Given the description of an element on the screen output the (x, y) to click on. 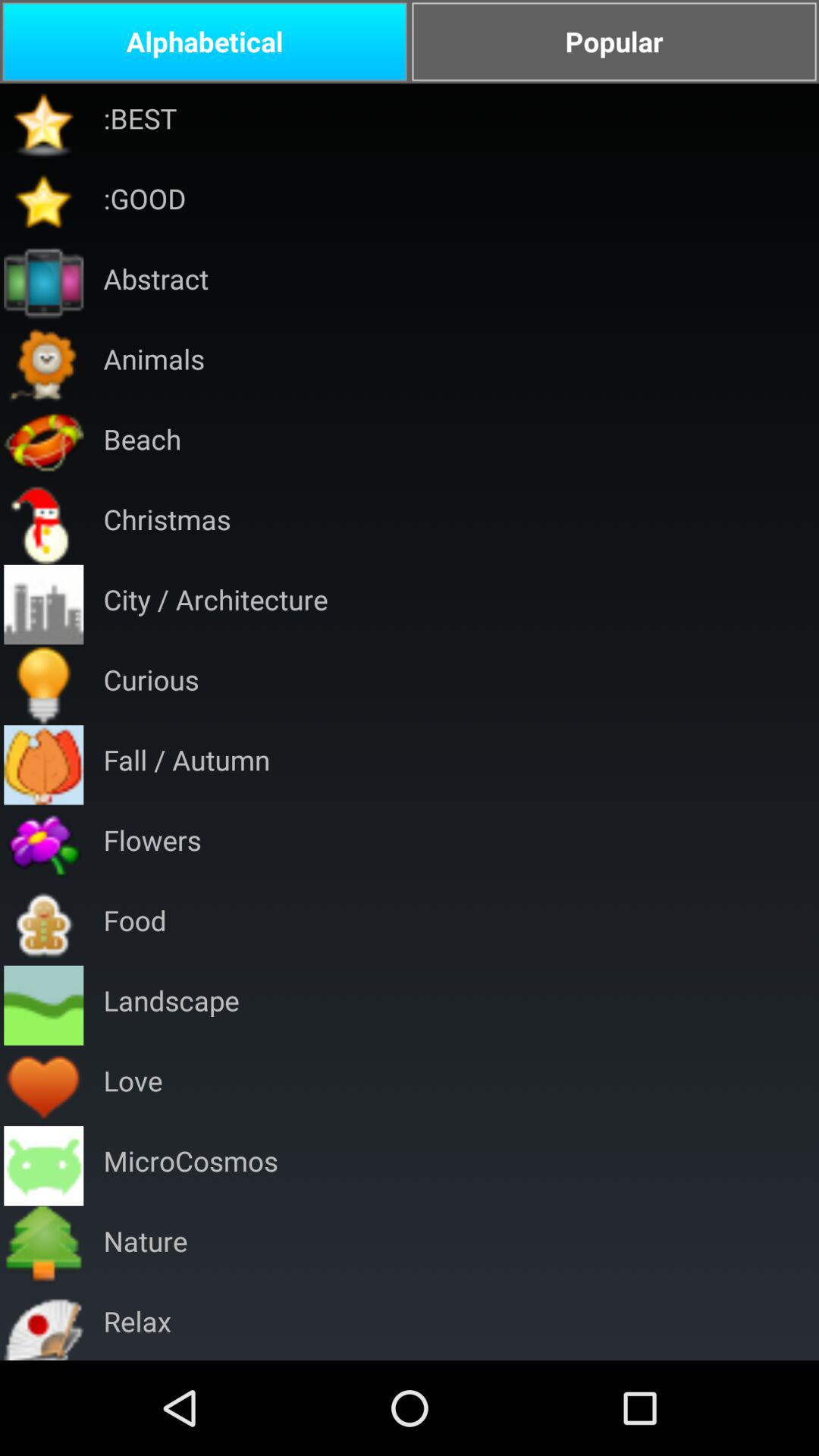
scroll until city / architecture app (215, 604)
